Given the description of an element on the screen output the (x, y) to click on. 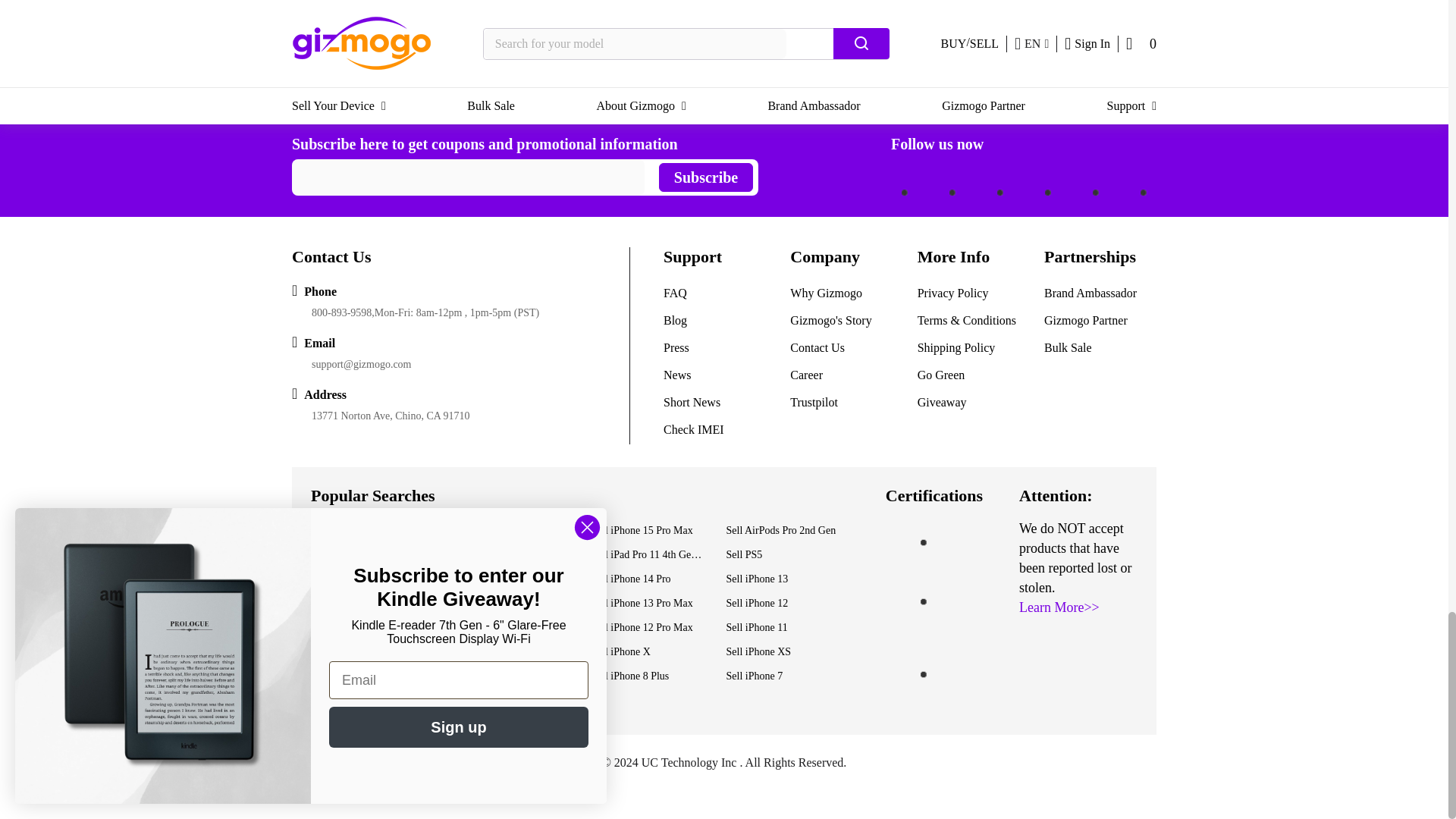
Apple (423, 93)
Gizmogo (312, 93)
Sell Phone (371, 93)
